Given the description of an element on the screen output the (x, y) to click on. 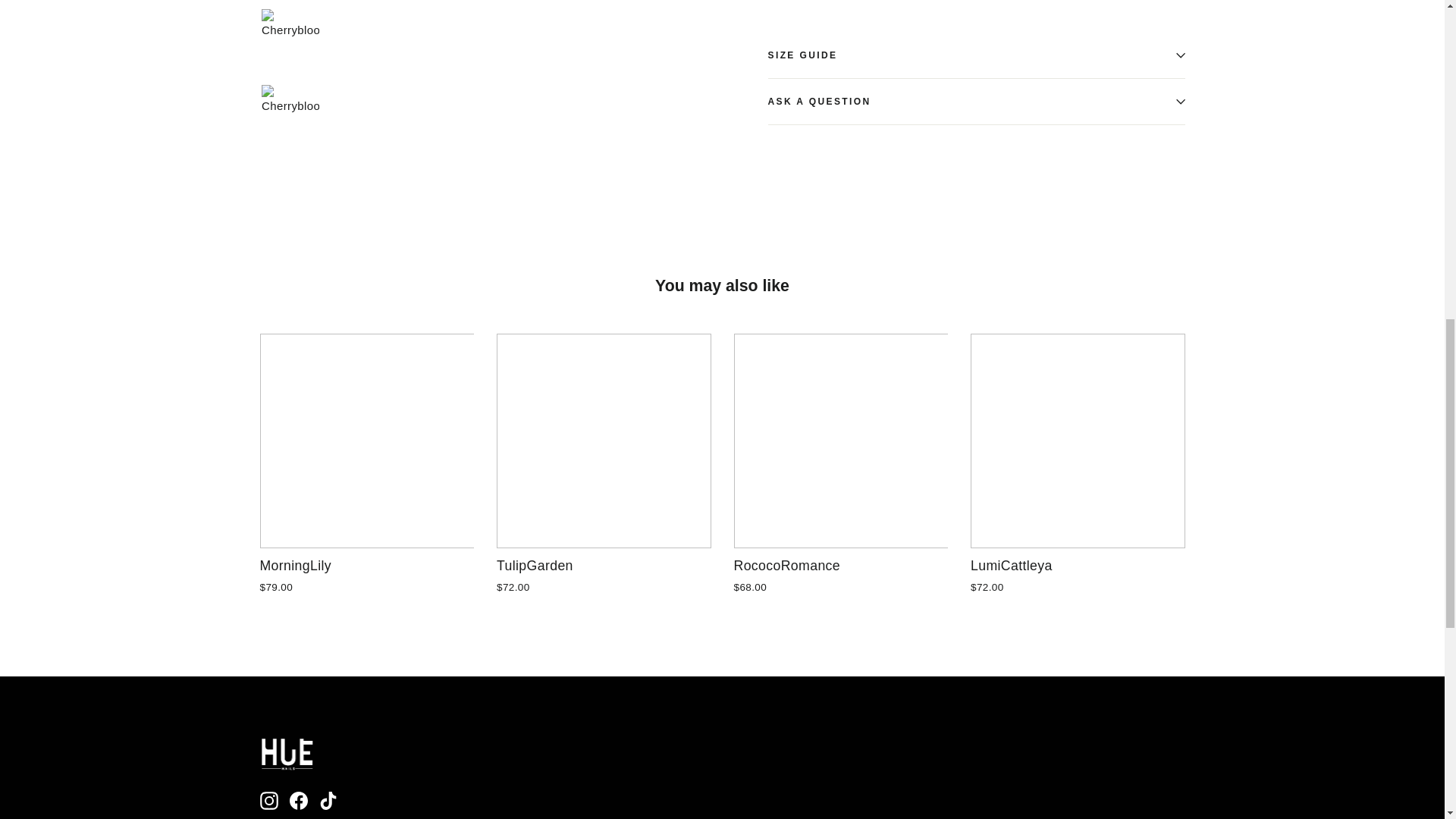
HUE NAILS  on Facebook (298, 800)
HUE NAILS  on TikTok (327, 800)
HUE NAILS  on Instagram (268, 800)
